Given the description of an element on the screen output the (x, y) to click on. 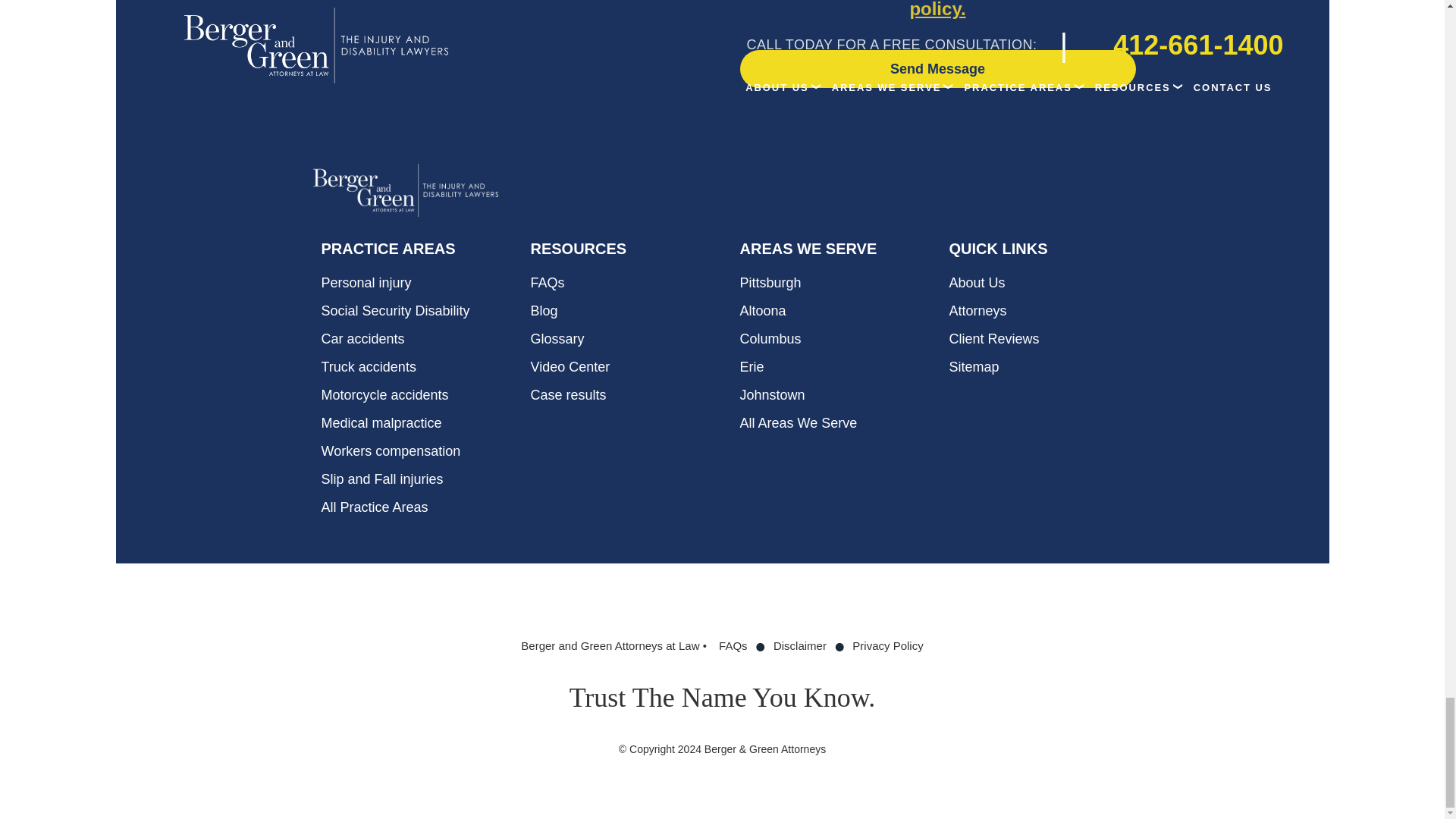
Send Message (937, 68)
